Given the description of an element on the screen output the (x, y) to click on. 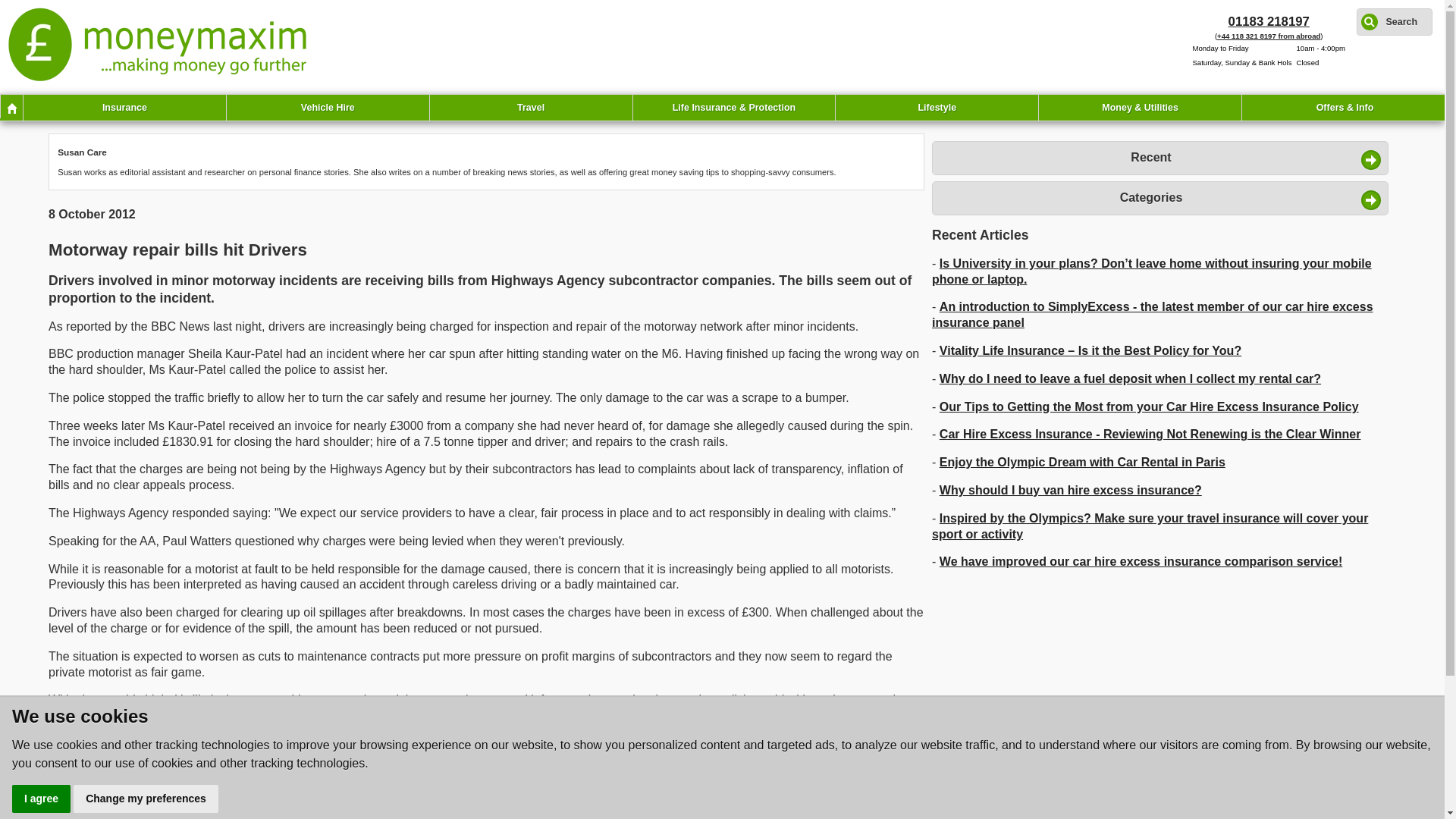
I agree (40, 798)
Home (11, 105)
Change my preferences (146, 798)
